Given the description of an element on the screen output the (x, y) to click on. 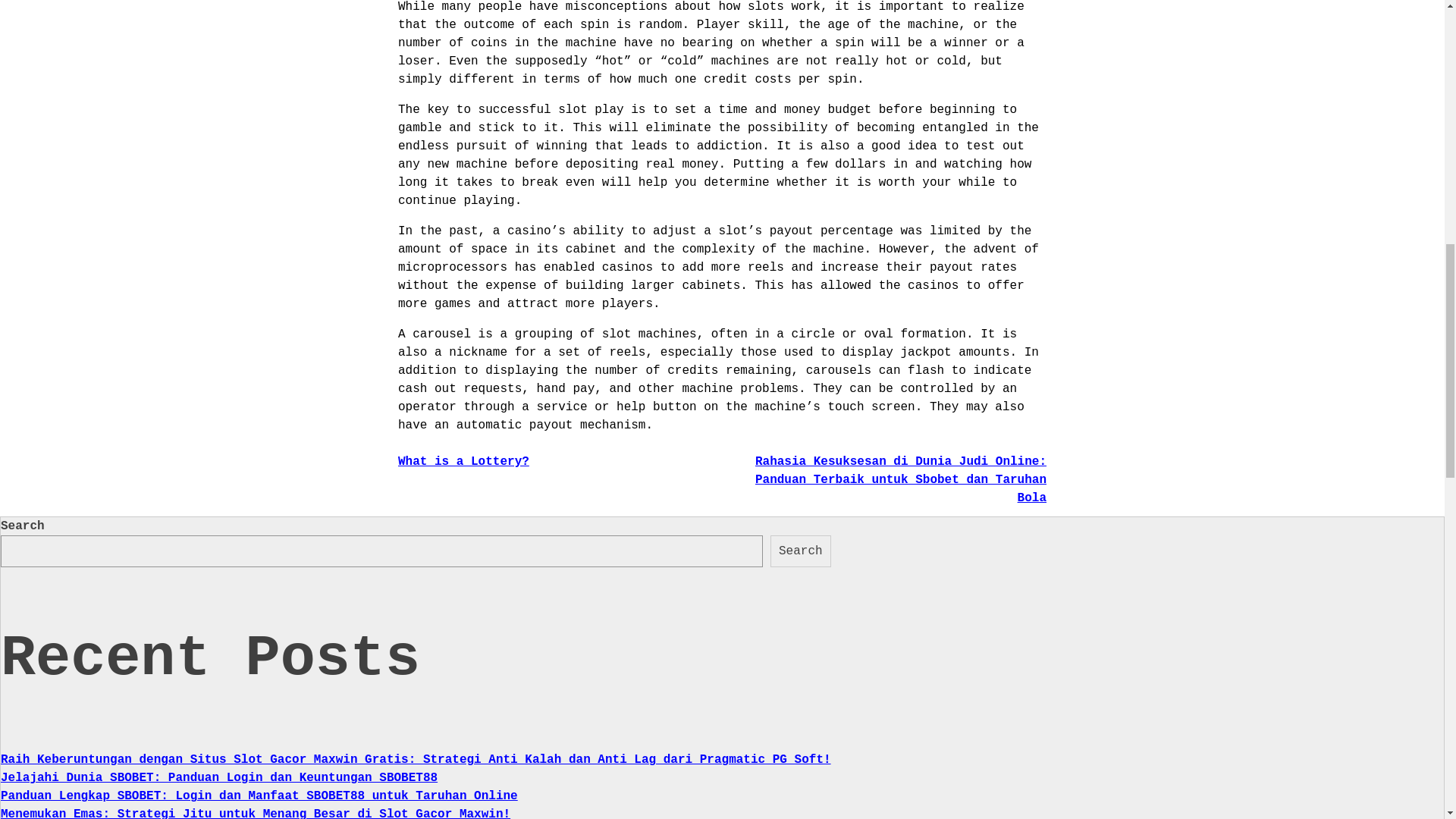
Search (800, 551)
Jelajahi Dunia SBOBET: Panduan Login dan Keuntungan SBOBET88 (219, 777)
What is a Lottery? (463, 461)
